Given the description of an element on the screen output the (x, y) to click on. 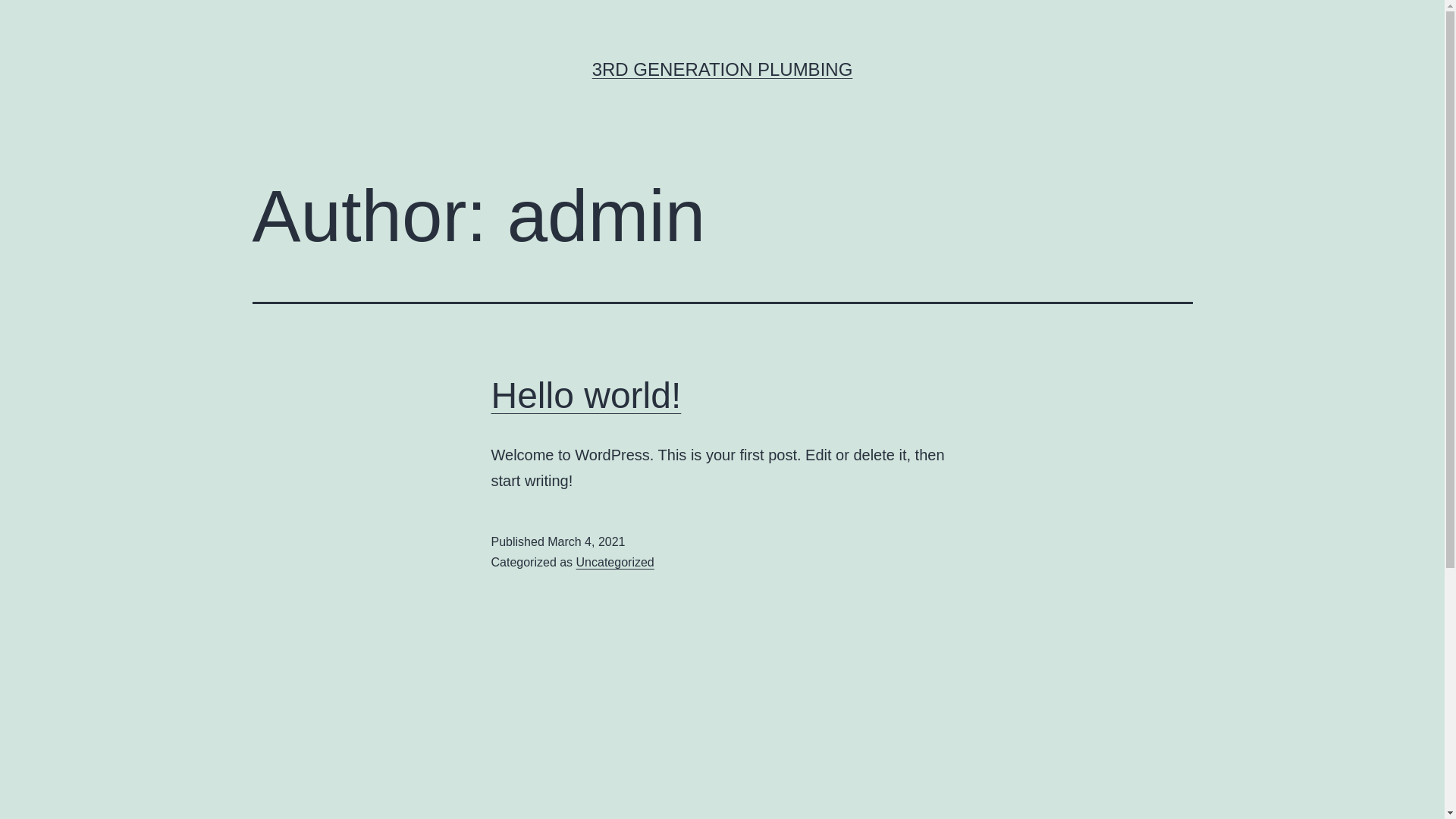
Uncategorized Element type: text (615, 561)
3RD GENERATION PLUMBING Element type: text (722, 69)
Hello world! Element type: text (586, 395)
